Given the description of an element on the screen output the (x, y) to click on. 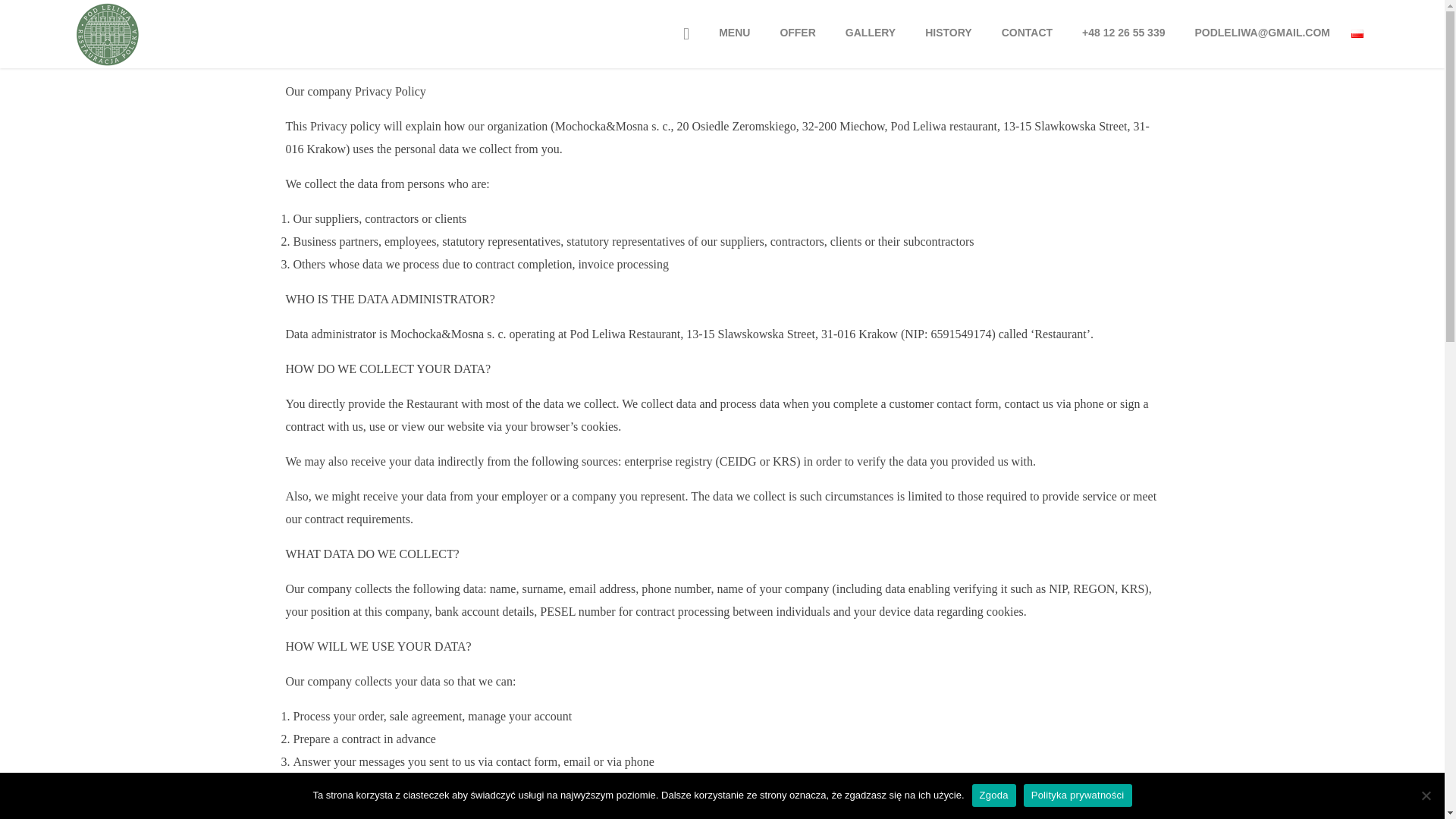
MENU (733, 33)
Zgoda (994, 794)
HISTORY (946, 33)
0 (685, 43)
HISTORY (947, 41)
0 (1355, 41)
CONTACT (1026, 33)
GALLERY (869, 33)
MENU (733, 41)
OFFER (796, 41)
GALLERY (869, 41)
CONTACT (1027, 41)
OFFER (796, 33)
